Given the description of an element on the screen output the (x, y) to click on. 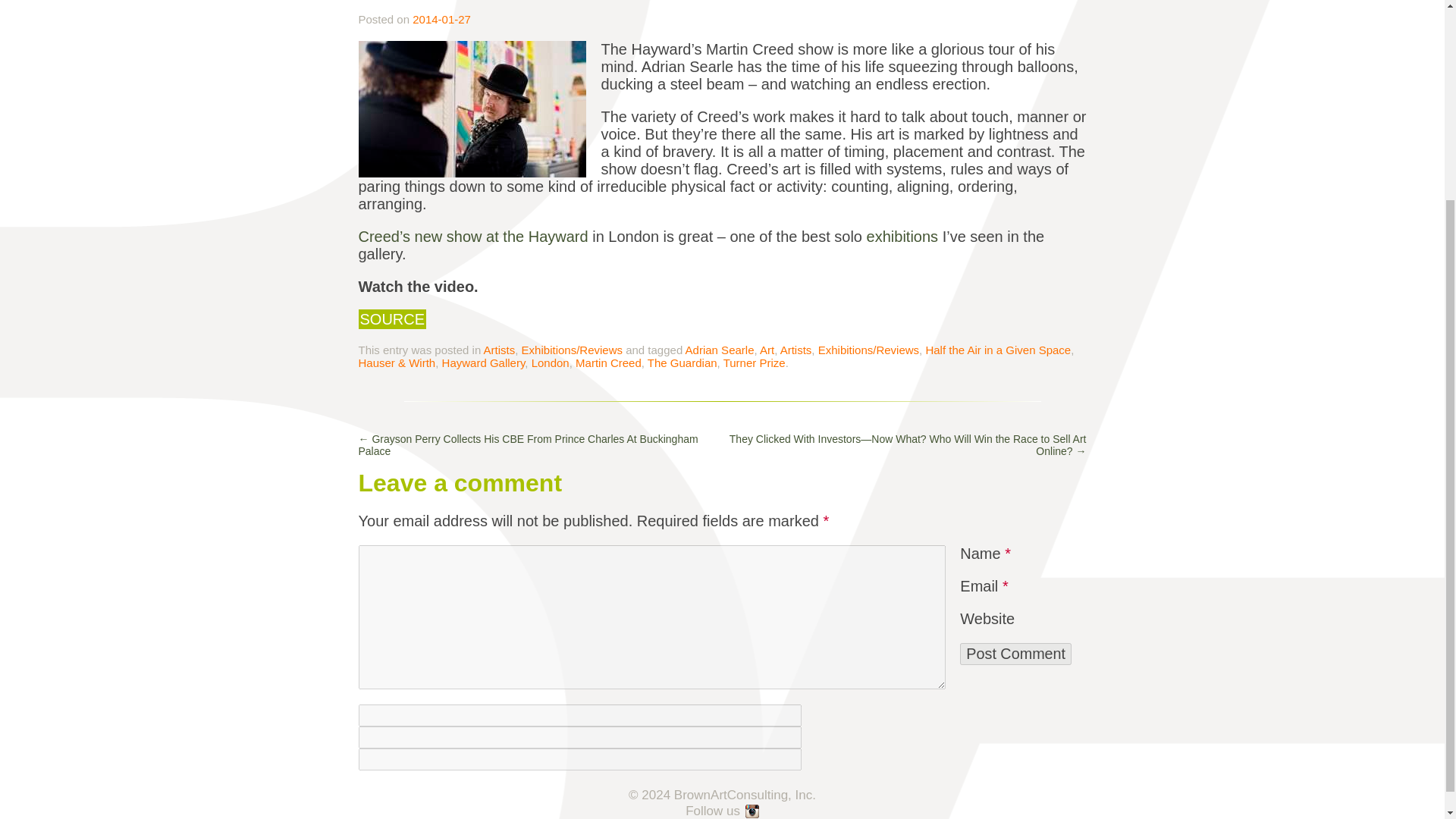
Artists (499, 349)
Martin Creed (608, 362)
Adrian Searle (719, 349)
Turner Prize (754, 362)
Post Comment (1015, 653)
The Guardian (682, 362)
exhibitions (902, 236)
Hayward Gallery (483, 362)
2014-01-27 (441, 19)
London (550, 362)
SOURCE (392, 319)
Post Comment (1015, 653)
Artists (796, 349)
More from the Guardian on Exhibitions (902, 236)
Art (767, 349)
